Given the description of an element on the screen output the (x, y) to click on. 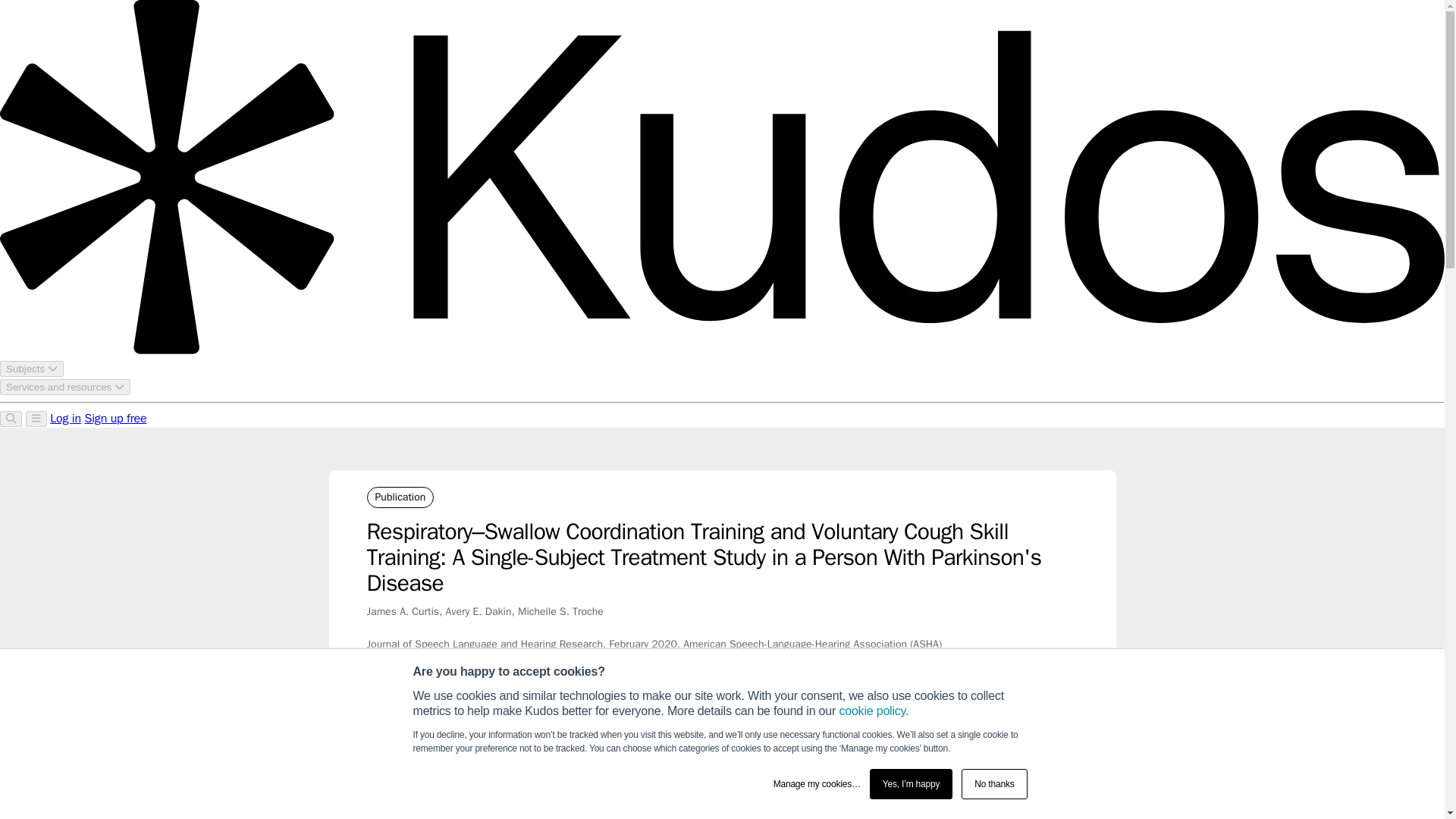
No thanks (993, 784)
Journal of Speech Language and Hearing Research (788, 744)
Scroll left (376, 744)
cookie policy (871, 710)
Read Article (997, 799)
Showcases (433, 744)
Home (379, 744)
